Given the description of an element on the screen output the (x, y) to click on. 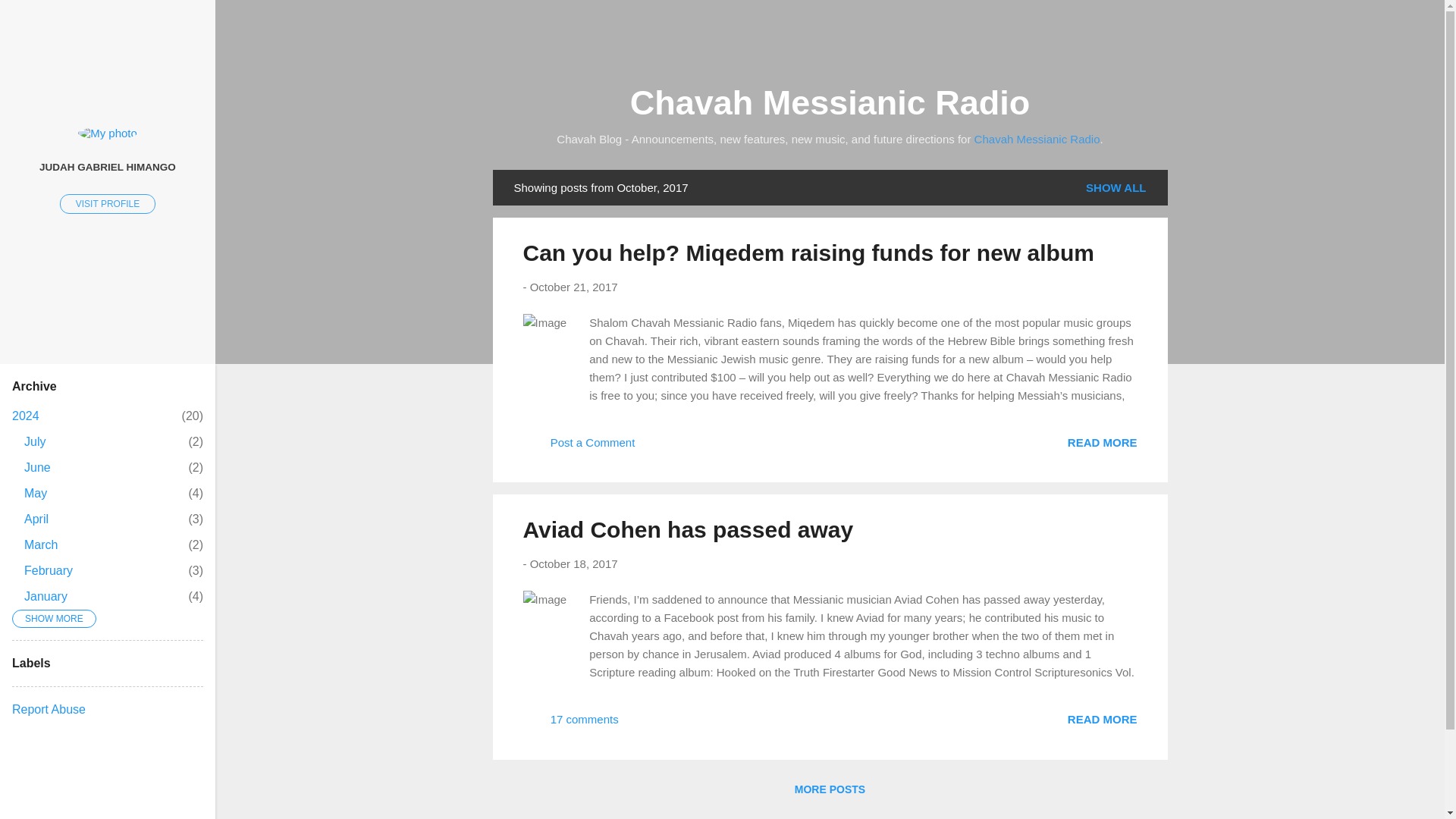
VISIT PROFILE (34, 440)
SHOW ALL (107, 203)
permanent link (1115, 187)
Aviad Cohen has passed away (573, 286)
Can you help? Miqedem raising funds for new album (687, 529)
Can you help? Miqedem raising funds for new album (35, 492)
Chavah Messianic Radio (1102, 440)
Post a Comment (808, 252)
READ MORE (1037, 138)
permanent link (36, 518)
